Given the description of an element on the screen output the (x, y) to click on. 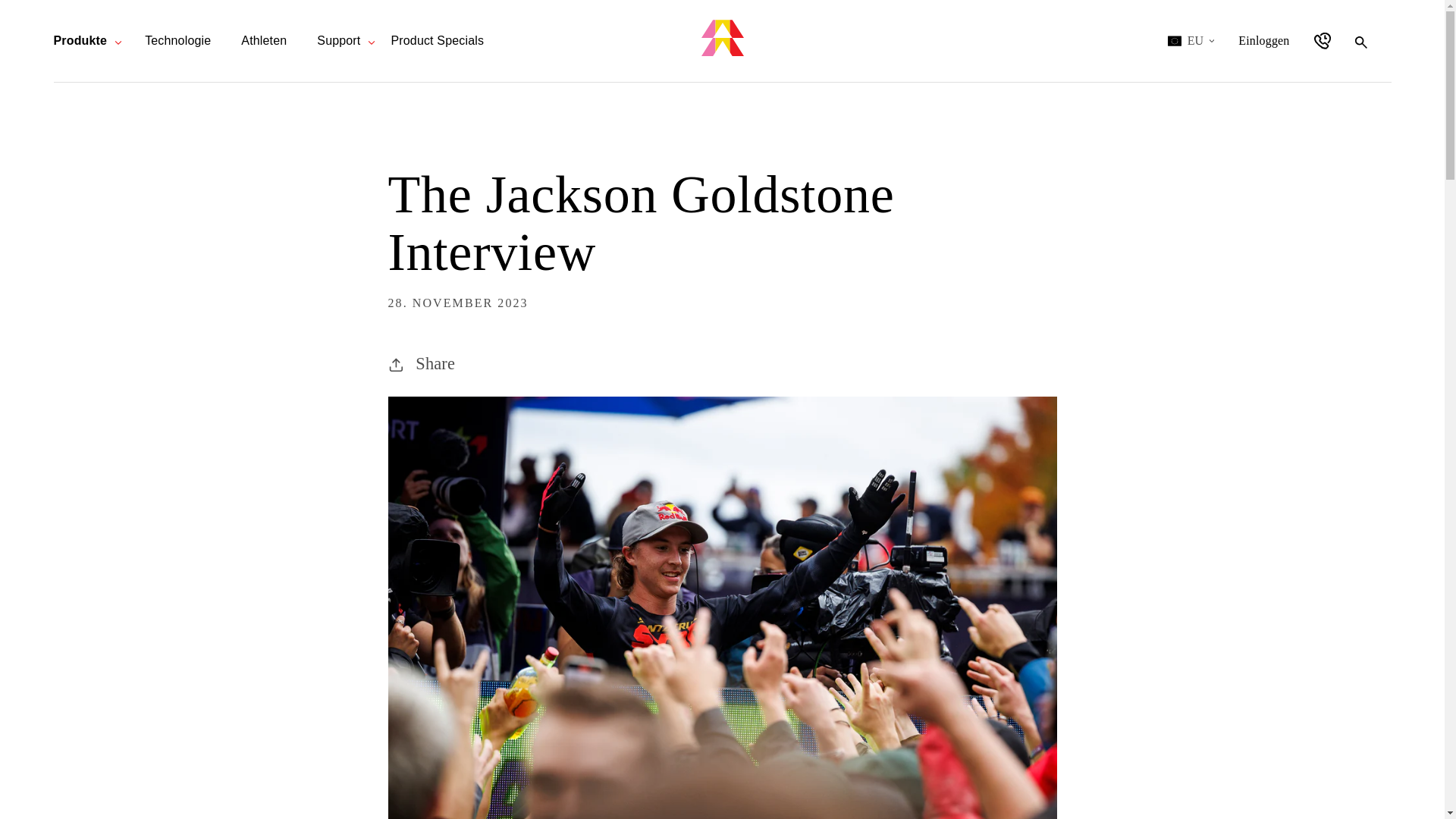
Product Specials (1263, 40)
Athleten (436, 40)
Technologie (263, 40)
Direkt zum Inhalt (177, 40)
Produkte (23, 9)
Support (79, 40)
